Given the description of an element on the screen output the (x, y) to click on. 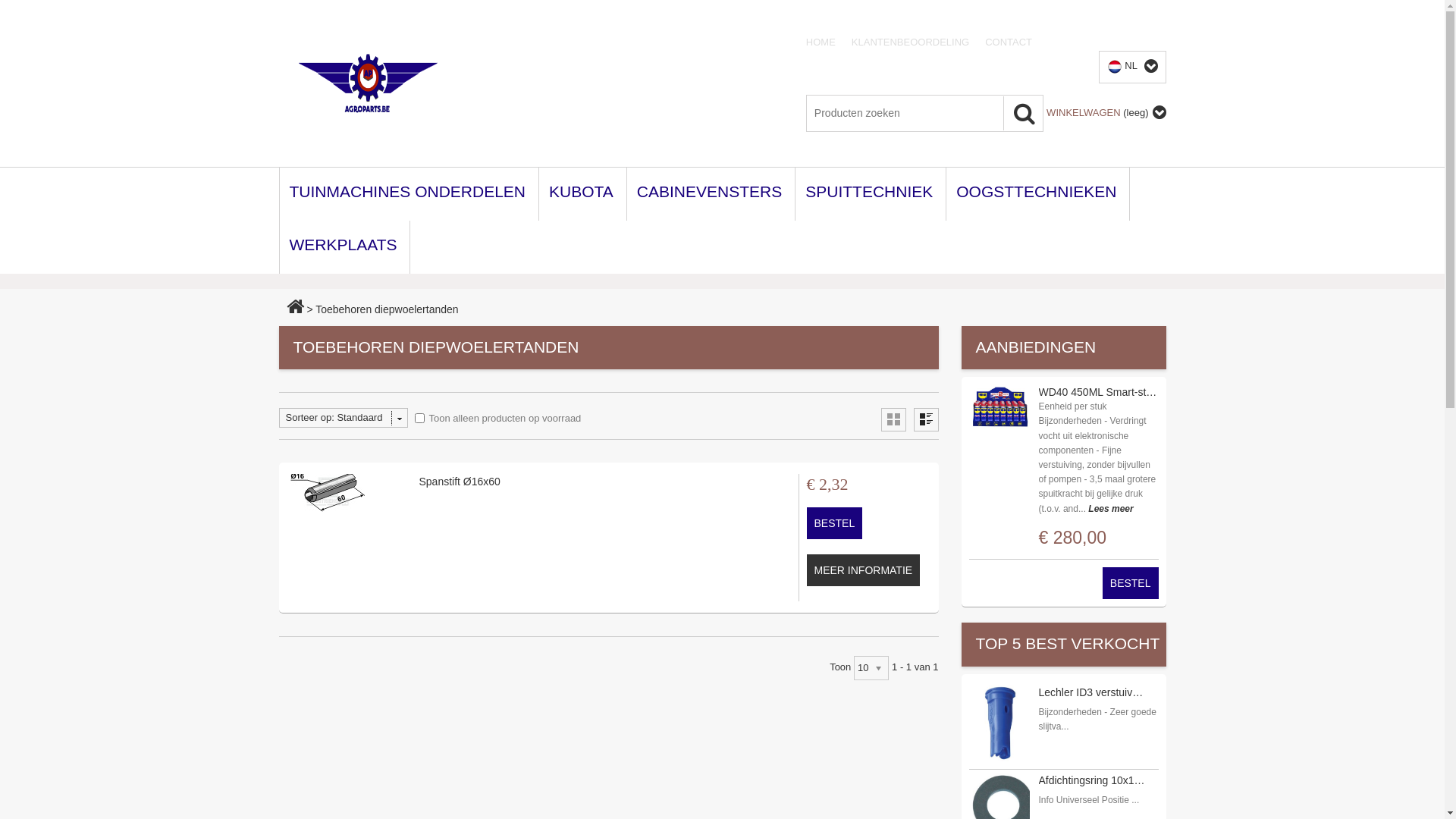
SPUITTECHNIEK Element type: text (870, 193)
Sorteer op: Standaard Element type: text (343, 417)
KLANTENBEOORDELING Element type: text (918, 42)
CONTACT Element type: text (1016, 42)
10 Element type: text (870, 667)
MEER INFORMATIE Element type: text (863, 570)
CABINEVENSTERS Element type: text (711, 193)
BESTEL Element type: text (1130, 583)
KUBOTA Element type: text (583, 193)
SIMONS KS-SYSTEMS BVBA Element type: hover (368, 83)
Lechler ID3 verstuivertip blauw Element type: text (1093, 691)
WINKELWAGEN (leeg) Element type: text (1097, 112)
WD40 450ML Smart-straw 24-Pack PROMO Element type: text (1097, 391)
HOME Element type: text (828, 42)
NL Element type: text (1132, 66)
Afdichtingsring 10x19x3.2 Arag 402200040 Element type: text (1093, 779)
WERKPLAATS Element type: text (344, 246)
OOGSTTECHNIEKEN Element type: text (1037, 193)
TUINMACHINES ONDERDELEN Element type: text (409, 193)
BESTEL Element type: text (834, 523)
